Given the description of an element on the screen output the (x, y) to click on. 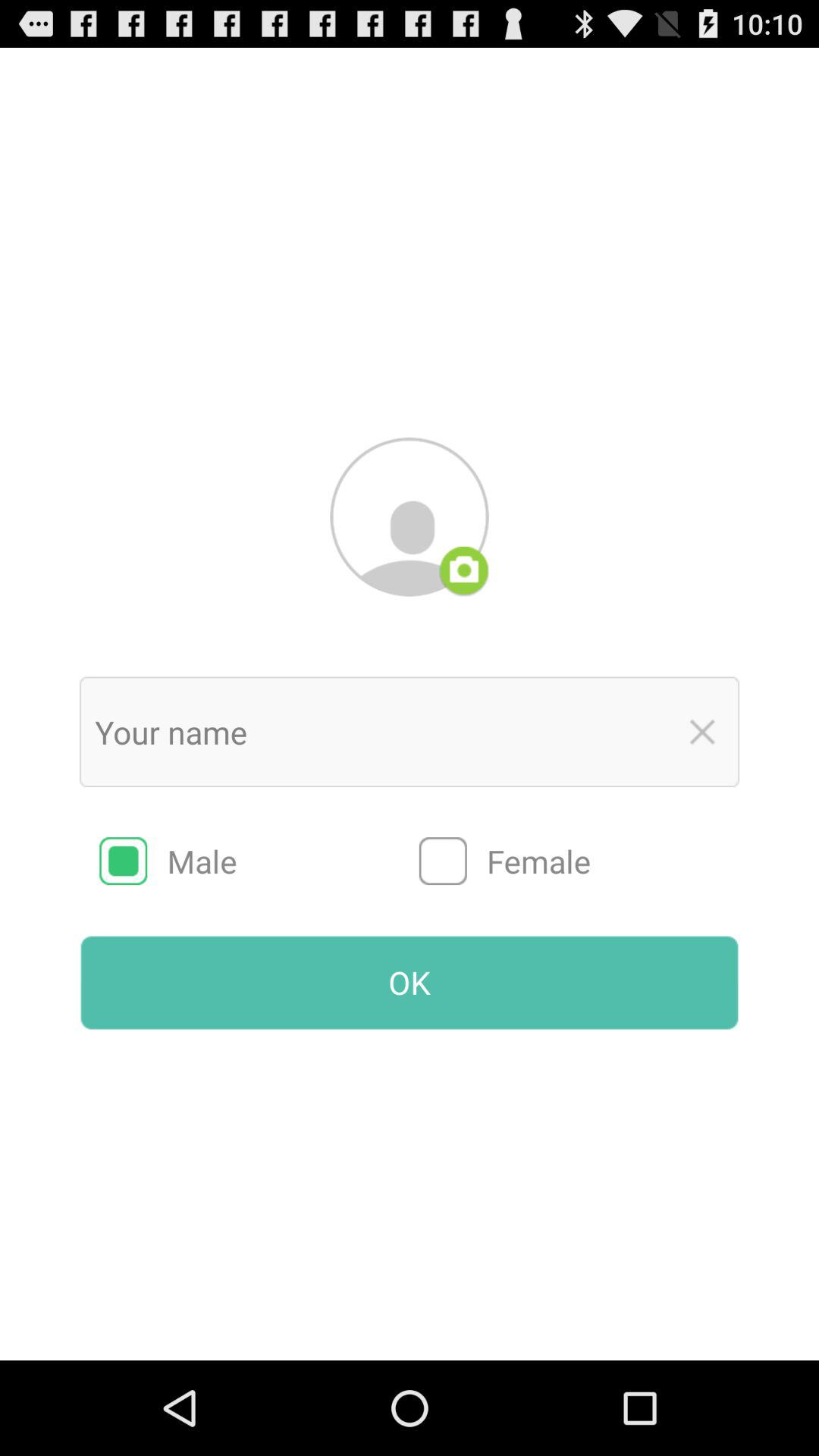
choose photo (464, 571)
